Given the description of an element on the screen output the (x, y) to click on. 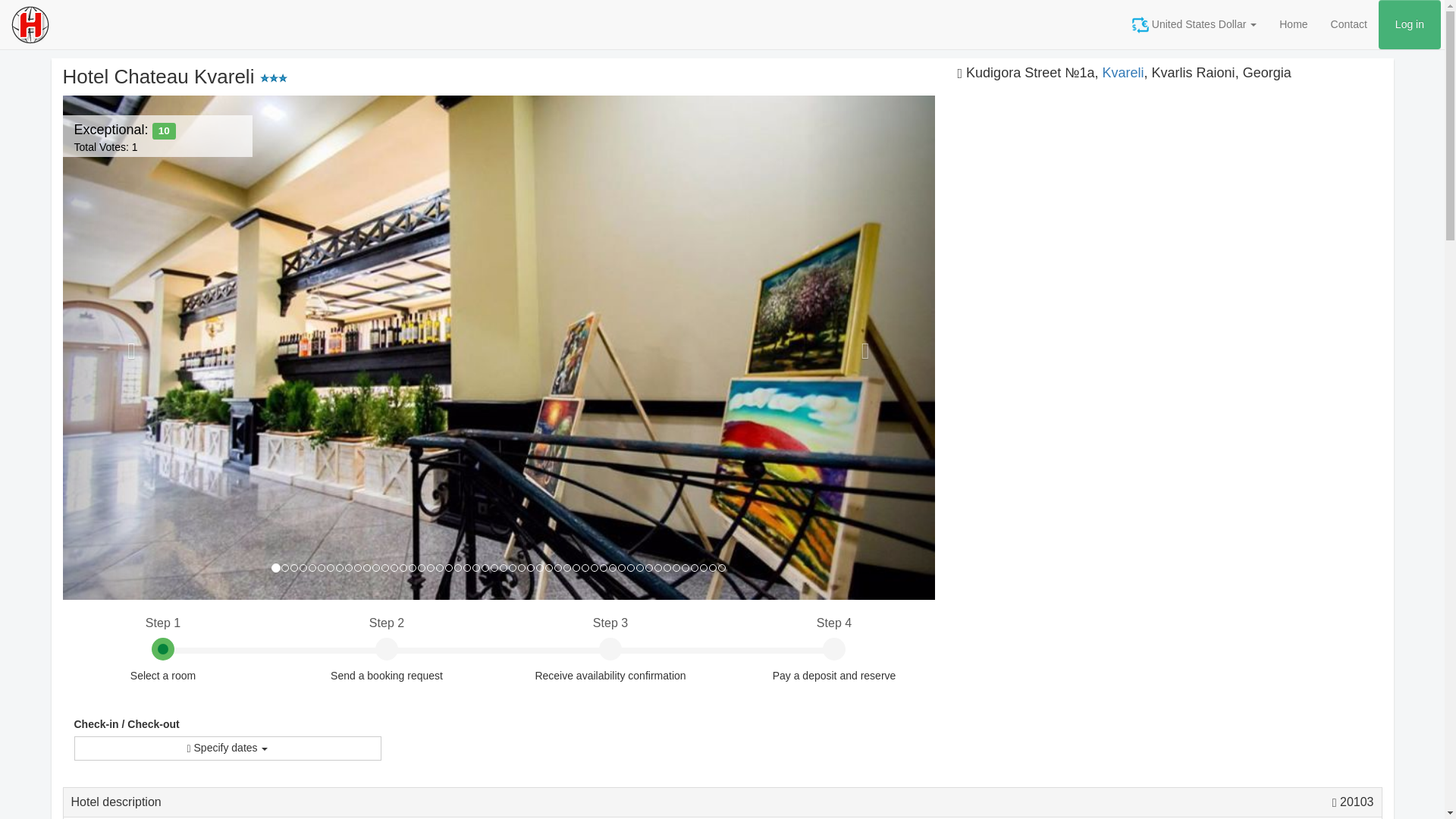
Home (1293, 24)
Kvareli (1123, 72)
United States Dollar (1194, 24)
View (1353, 801)
Log in (125, 137)
Contact (1409, 24)
